Given the description of an element on the screen output the (x, y) to click on. 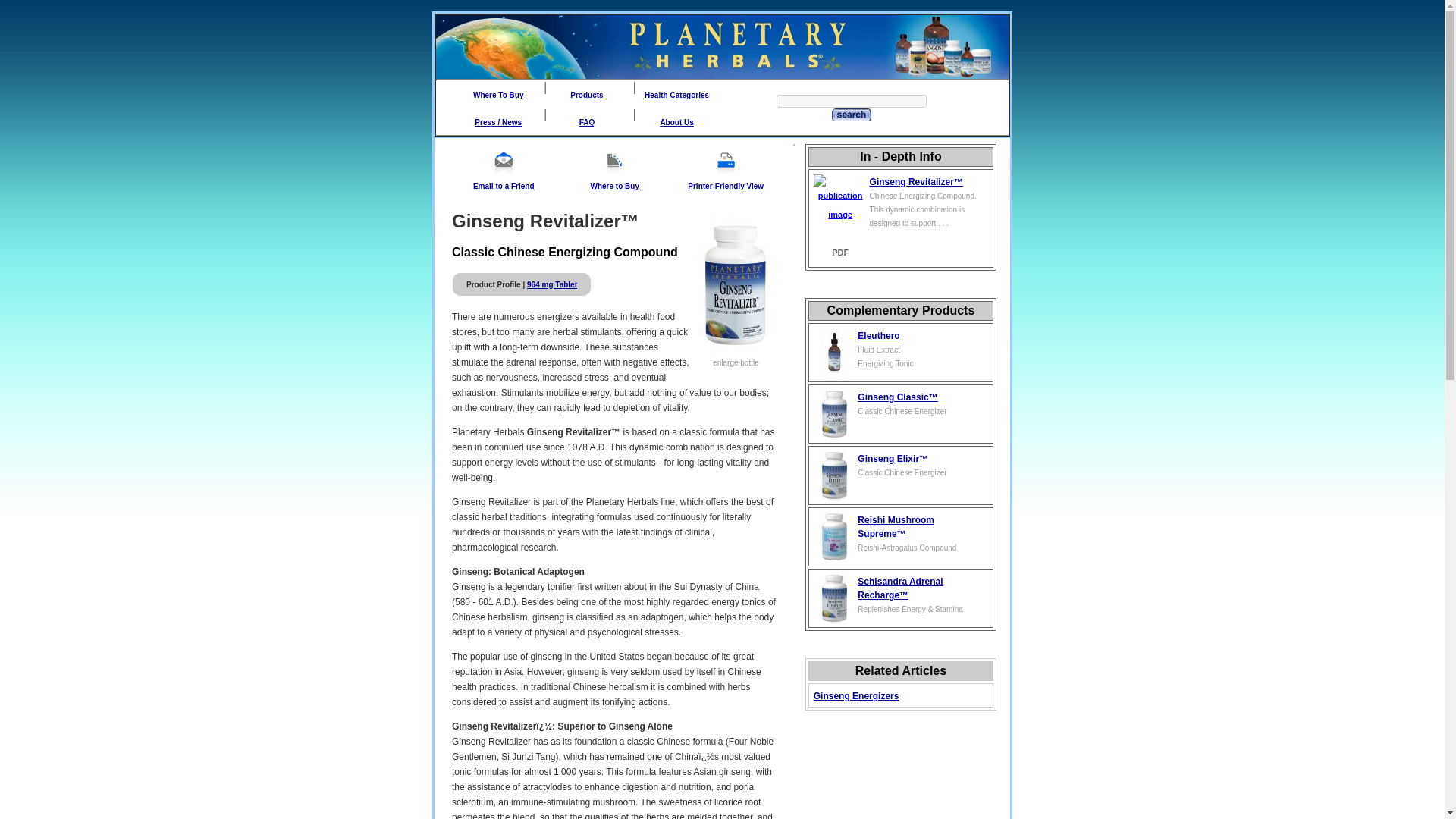
Eleuthero (878, 335)
964 mg Tablet (551, 284)
Email to a Friend (503, 185)
Classic Chinese Energizer (901, 411)
Where to Buy (614, 185)
Fluid Extract (878, 349)
Energizing Tonic (884, 363)
About Us (676, 121)
FAQ (587, 121)
